Given the description of an element on the screen output the (x, y) to click on. 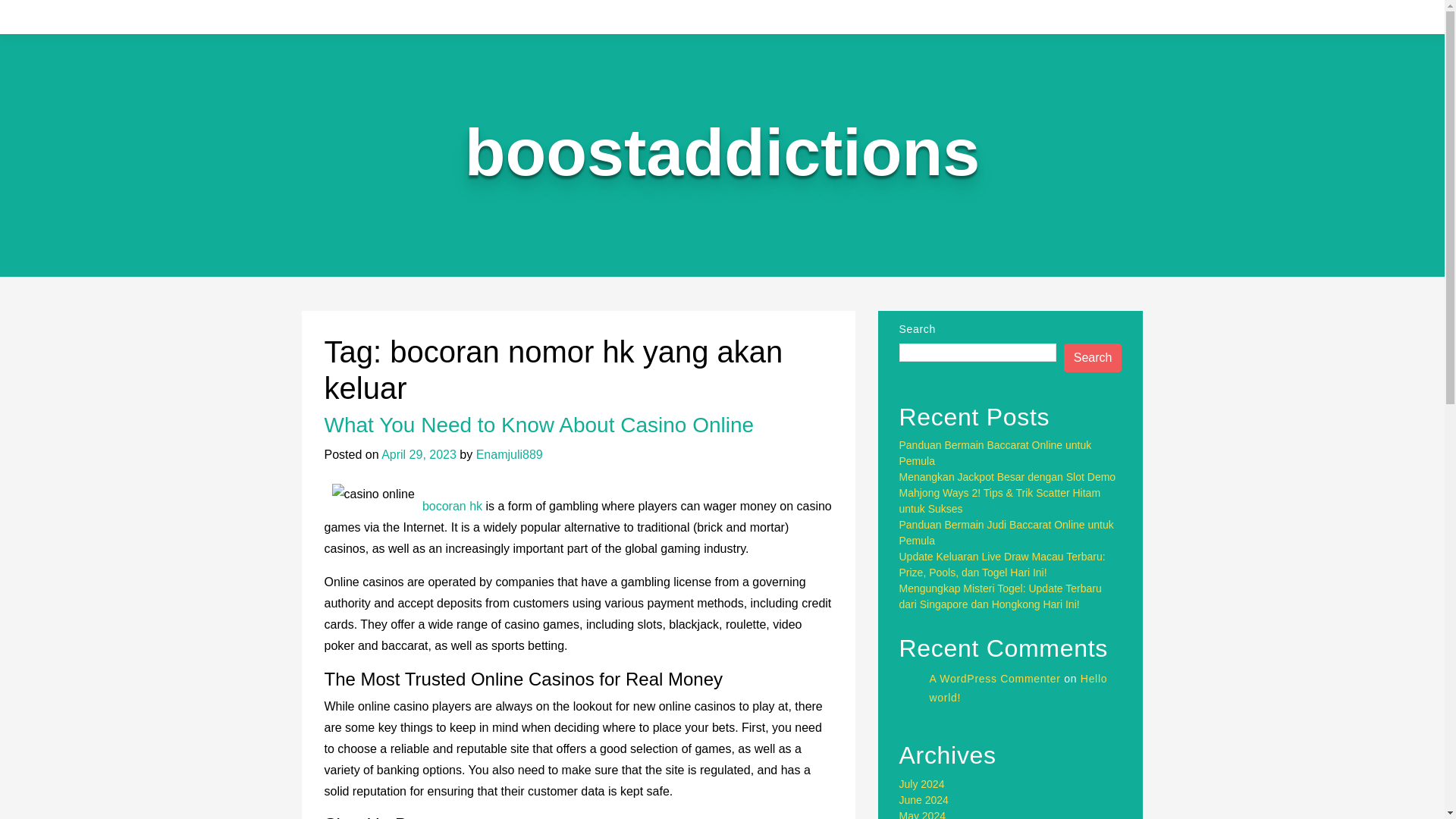
Panduan Bermain Judi Baccarat Online untuk Pemula (1006, 532)
Hello world! (1019, 687)
Search (1093, 357)
Enamjuli889 (509, 454)
July 2024 (921, 784)
June 2024 (924, 799)
bocoran hk (451, 505)
What You Need to Know About Casino Online (539, 424)
Panduan Bermain Baccarat Online untuk Pemula (995, 452)
A WordPress Commenter (995, 678)
April 29, 2023 (419, 454)
May 2024 (921, 814)
